Given the description of an element on the screen output the (x, y) to click on. 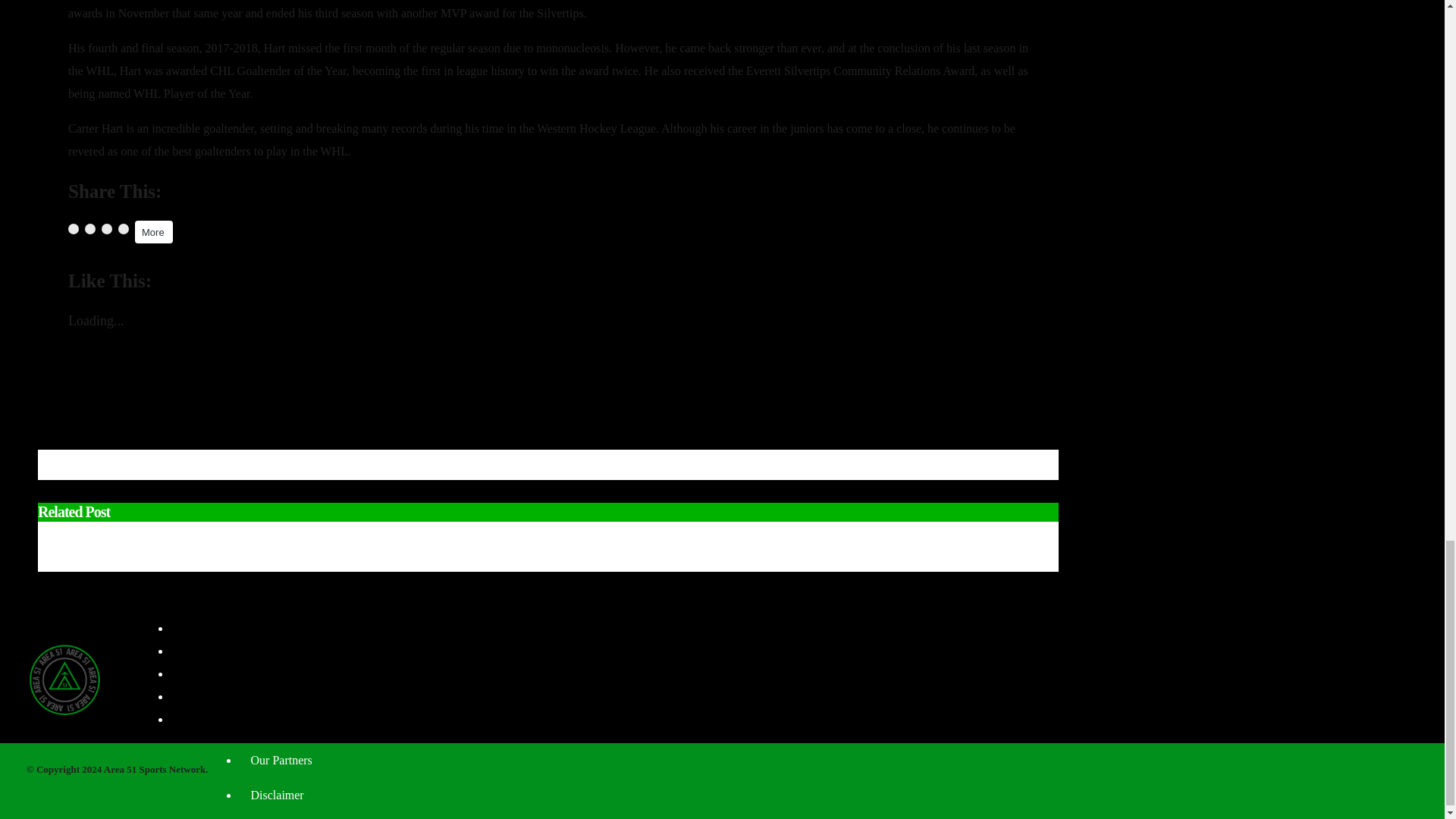
Robbie Fromm-Delorme: Becoming the Old Guard (210, 407)
WHL Best of the 2010s: Mac Carruth (173, 385)
More (154, 231)
Click to share on Facebook (73, 228)
2024 WHL Draft Recap: Edmonton Oil Kings (518, 536)
Click to share on LinkedIn (106, 228)
Click to share on Threads (123, 228)
Click to share on X (90, 228)
